Given the description of an element on the screen output the (x, y) to click on. 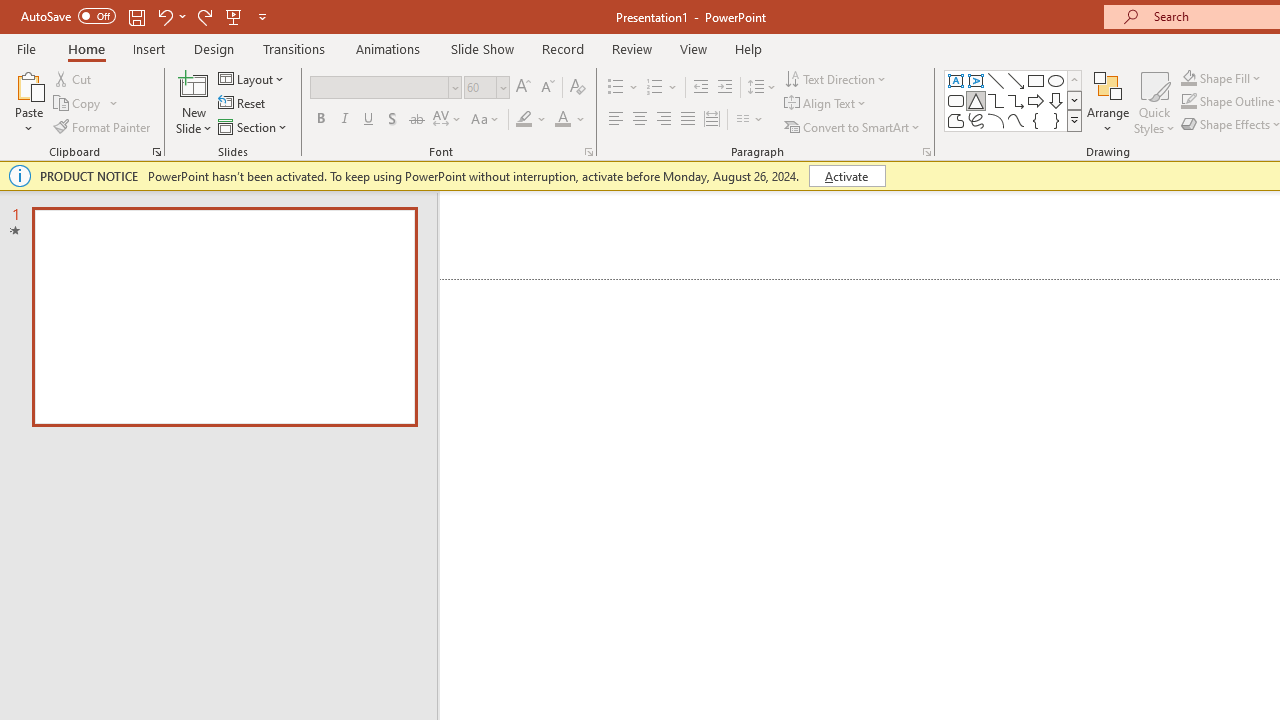
Shape Outline Dark Red, Accent 1 (1188, 101)
